Given the description of an element on the screen output the (x, y) to click on. 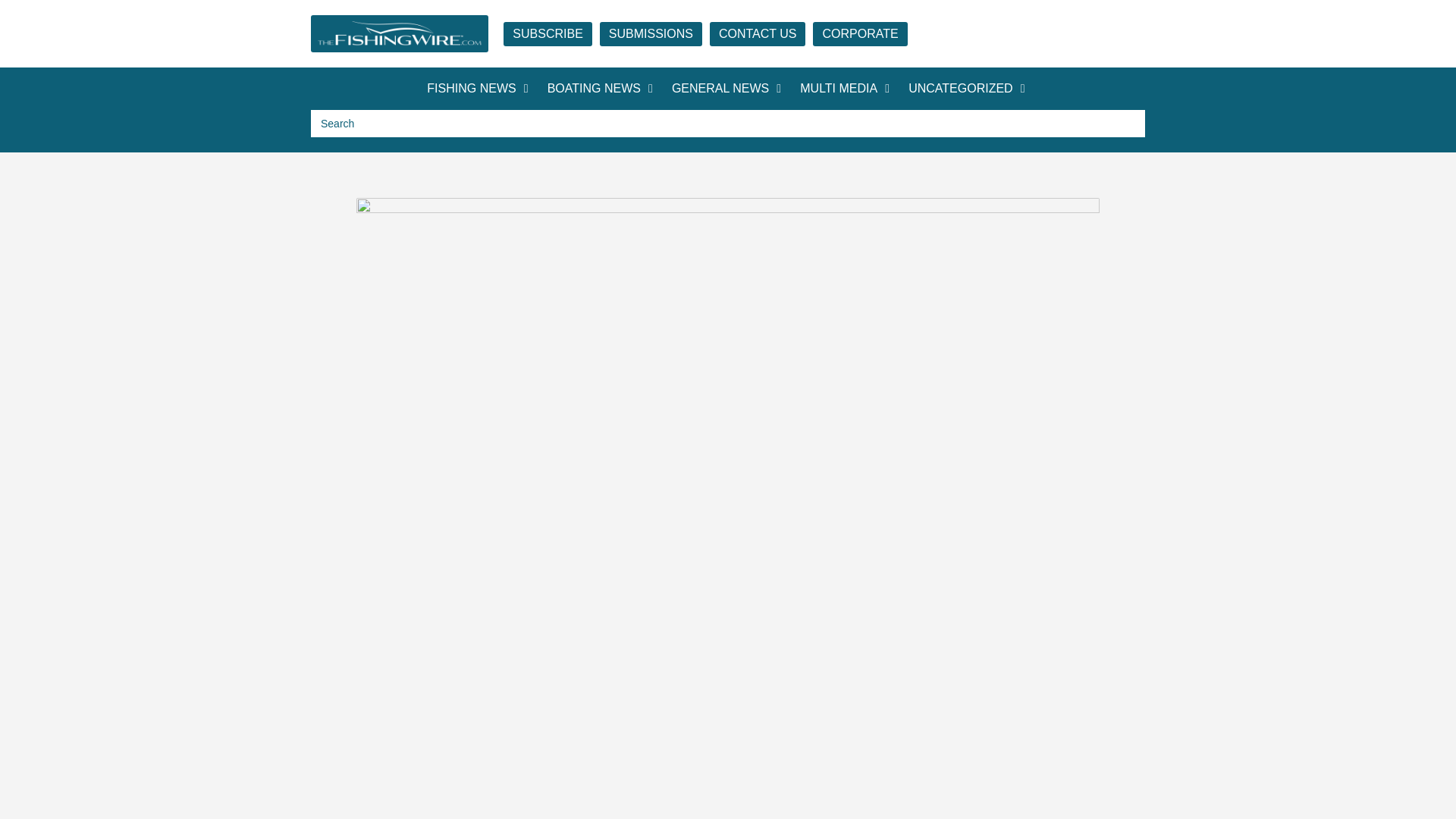
BOATING NEWS (593, 88)
SUBMISSIONS (650, 33)
SUBSCRIBE (547, 33)
FISHING NEWS (470, 88)
CONTACT US (758, 33)
CORPORATE (859, 33)
